Given the description of an element on the screen output the (x, y) to click on. 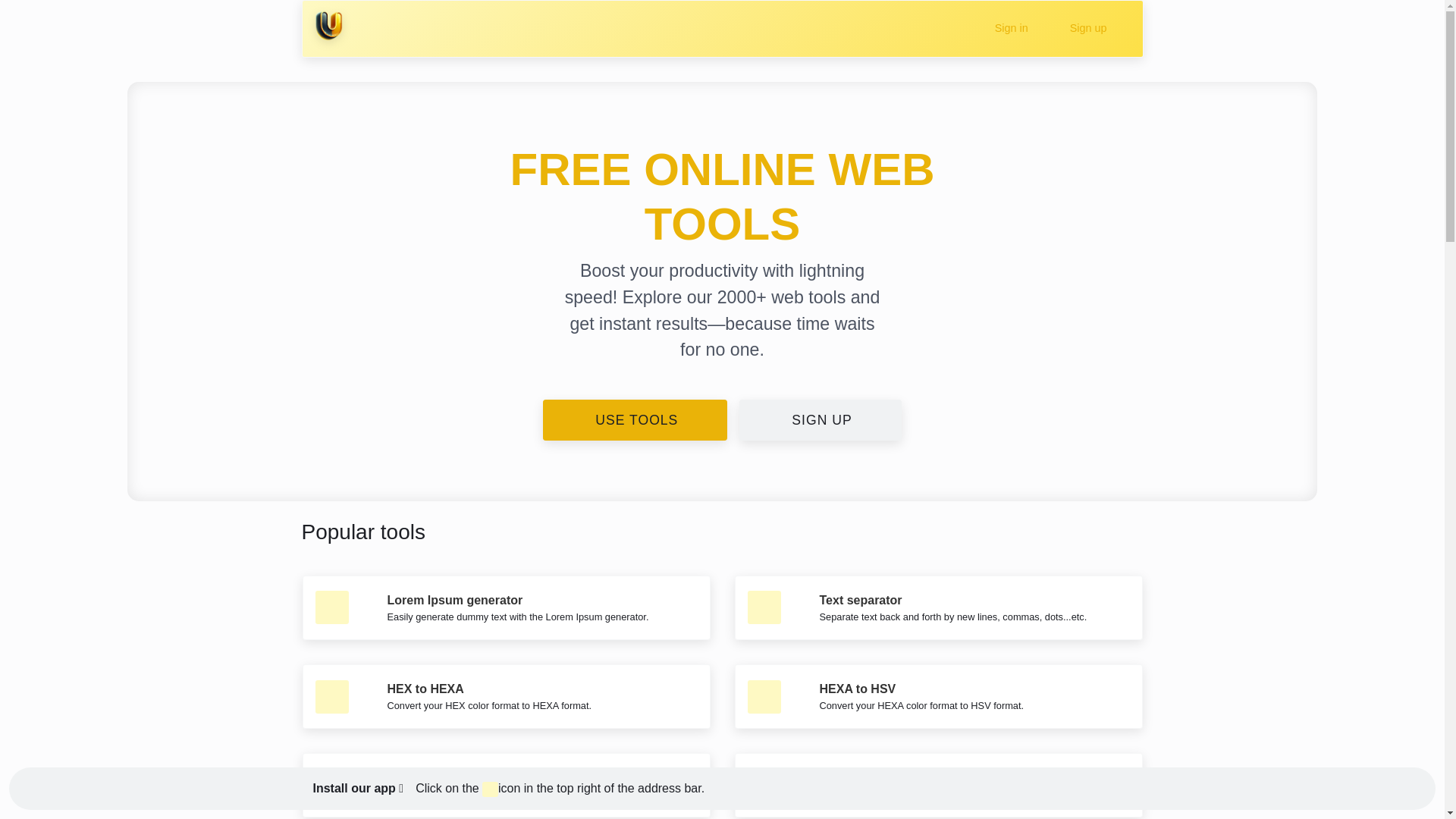
HSV to HEXA (425, 777)
HEX to HEXA (425, 688)
HEXA to HSV (856, 688)
Lorem Ipsum generator (454, 599)
RGB to HEXA (858, 777)
Sign up (1085, 28)
Text separator (859, 599)
Sign in (1008, 28)
SIGN UP (820, 419)
USE TOOLS (634, 419)
